Given the description of an element on the screen output the (x, y) to click on. 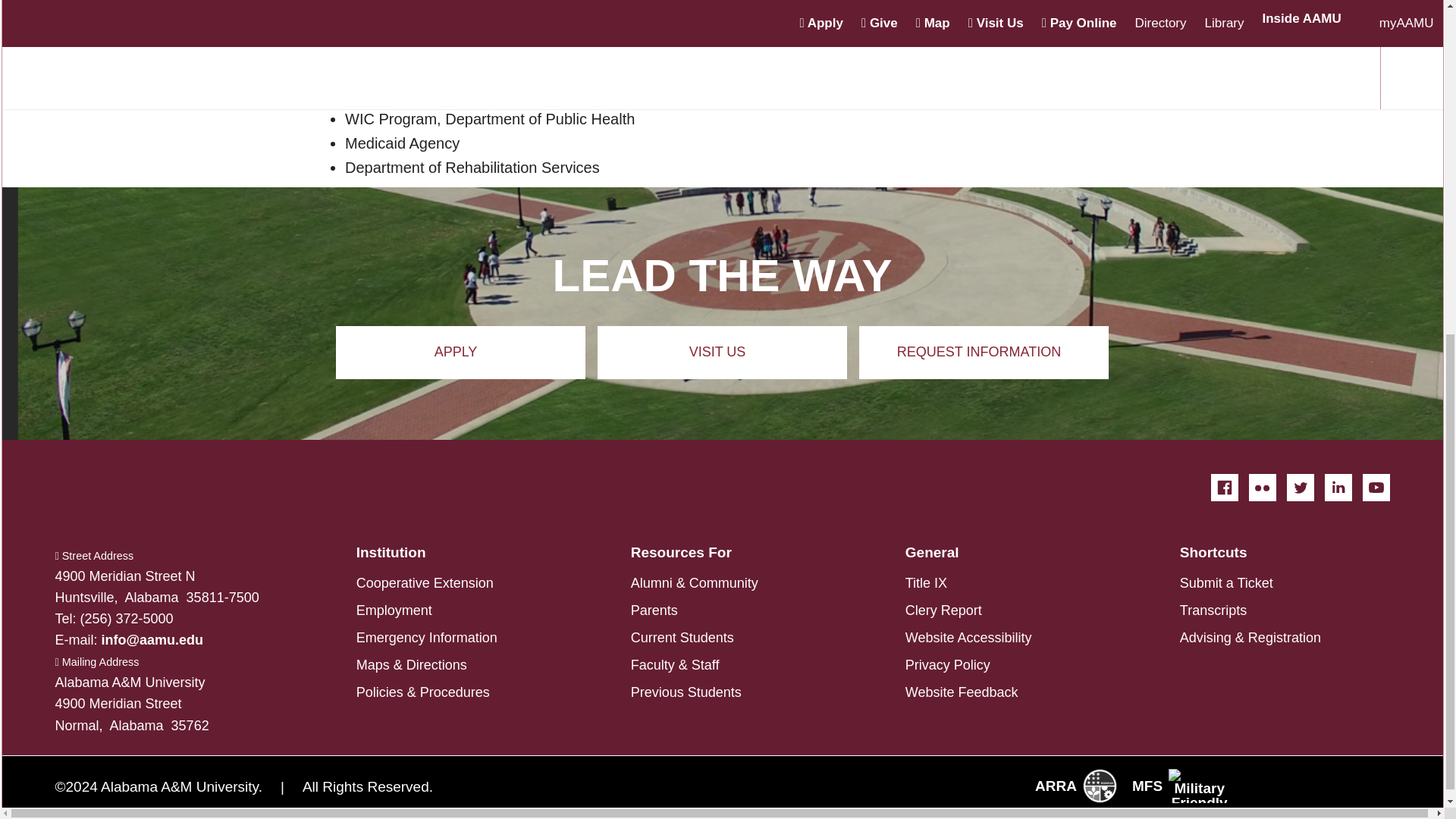
YouTube (1375, 487)
LinkedIn (1337, 487)
Flickr (1261, 487)
Twitter (1299, 487)
Facebook (1223, 487)
